Given the description of an element on the screen output the (x, y) to click on. 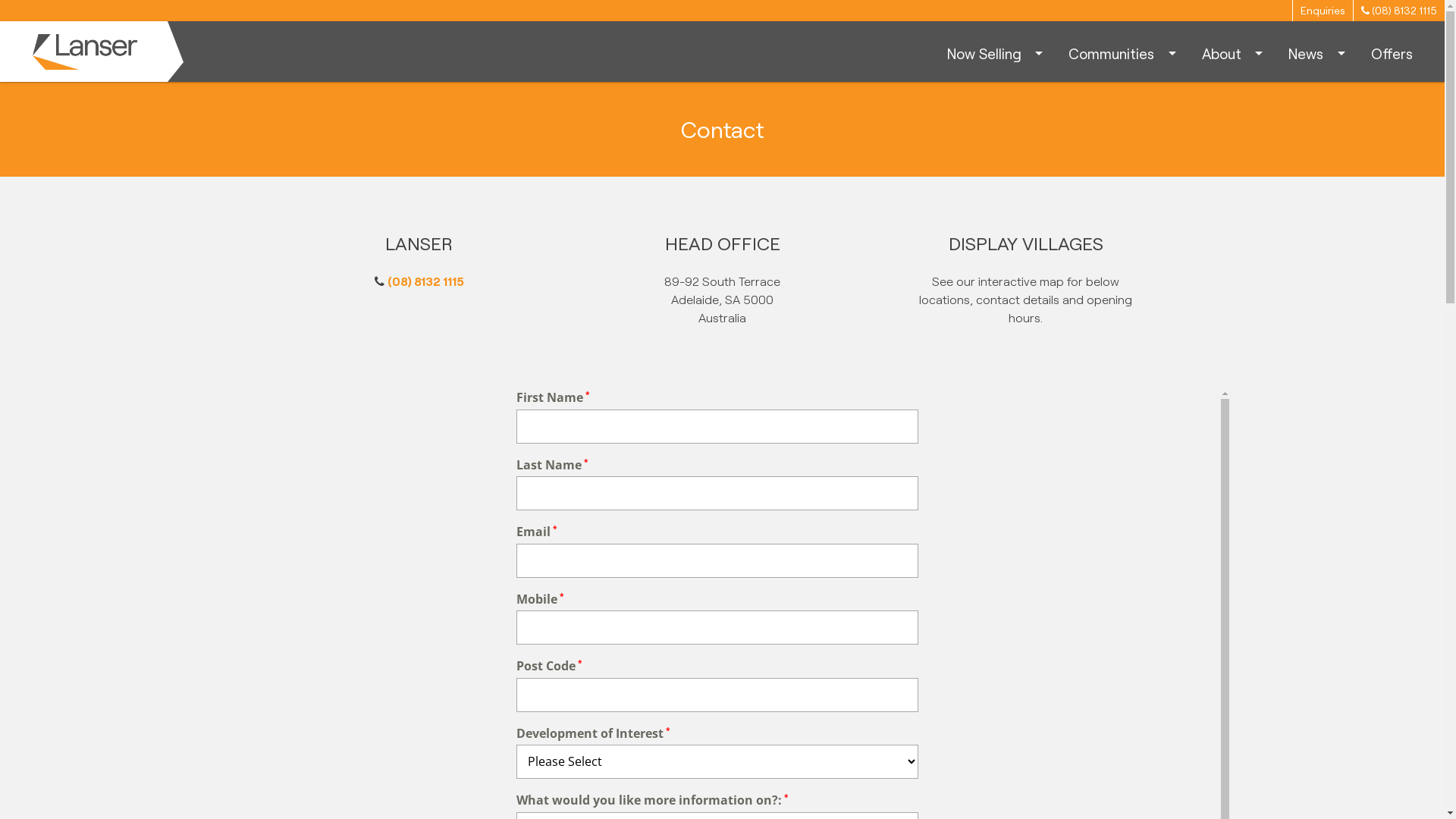
(08) 8132 1115 Element type: text (424, 281)
(08) 8132 1115 Element type: text (1398, 10)
Enquiries Element type: text (1322, 10)
Offers Element type: text (1390, 54)
News Element type: text (1318, 54)
Now Selling Element type: text (996, 54)
Communities Element type: text (1123, 54)
About Element type: text (1233, 54)
